Given the description of an element on the screen output the (x, y) to click on. 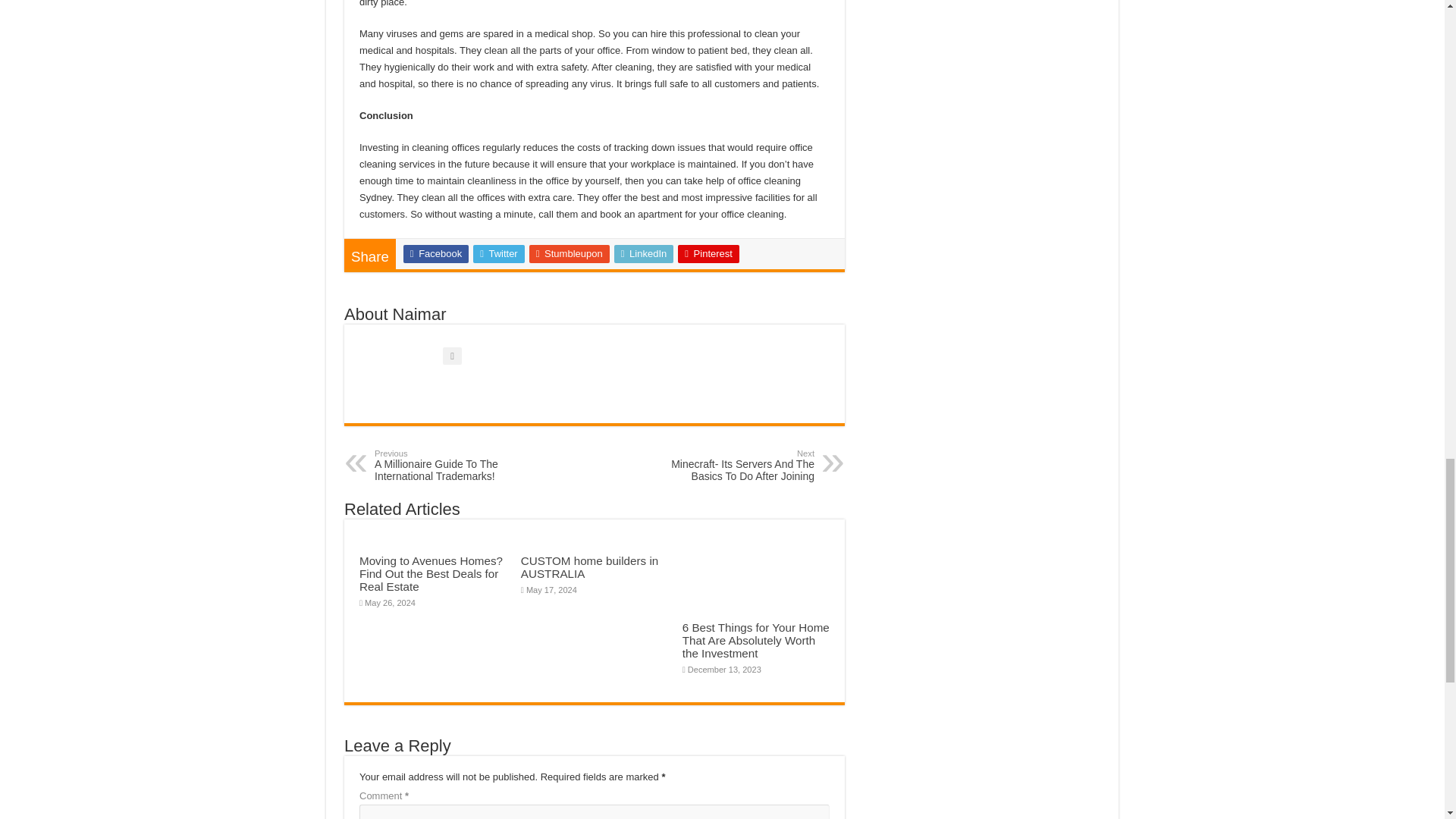
Twitter (498, 253)
Pinterest (708, 253)
Stumbleupon (569, 253)
Facebook (435, 253)
CUSTOM home builders in AUSTRALIA (589, 566)
LinkedIn (644, 253)
